Given the description of an element on the screen output the (x, y) to click on. 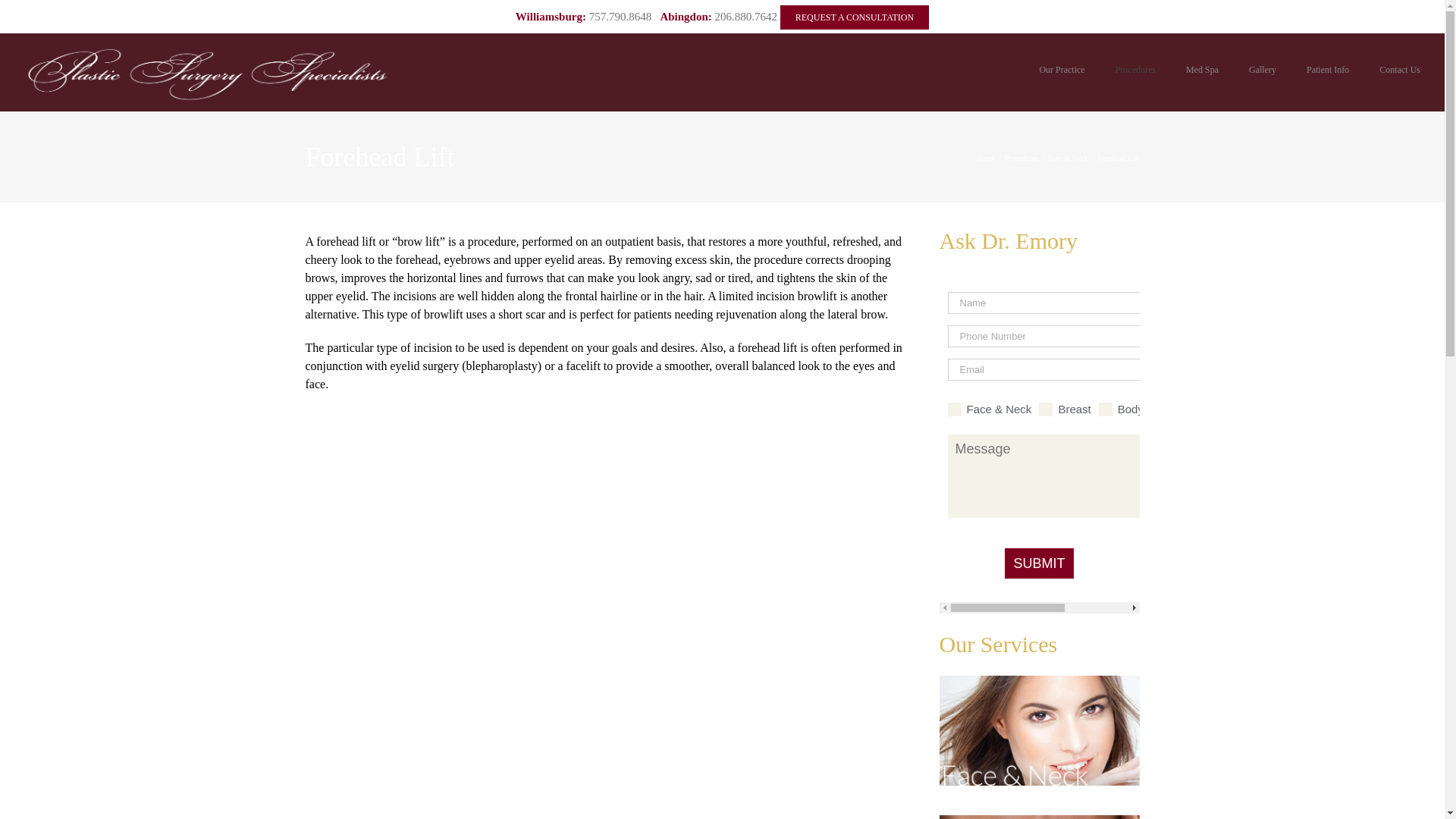
Our Practice (1061, 70)
Breast (1045, 409)
REQUEST A CONSULTATION (854, 16)
Body (1105, 409)
Abingdon: 206.880.7642 (718, 16)
Williamsburg: 757.790.8648 (582, 16)
Med Spa (1201, 70)
Non-Invasive (1157, 409)
Procedures (1135, 70)
